Given the description of an element on the screen output the (x, y) to click on. 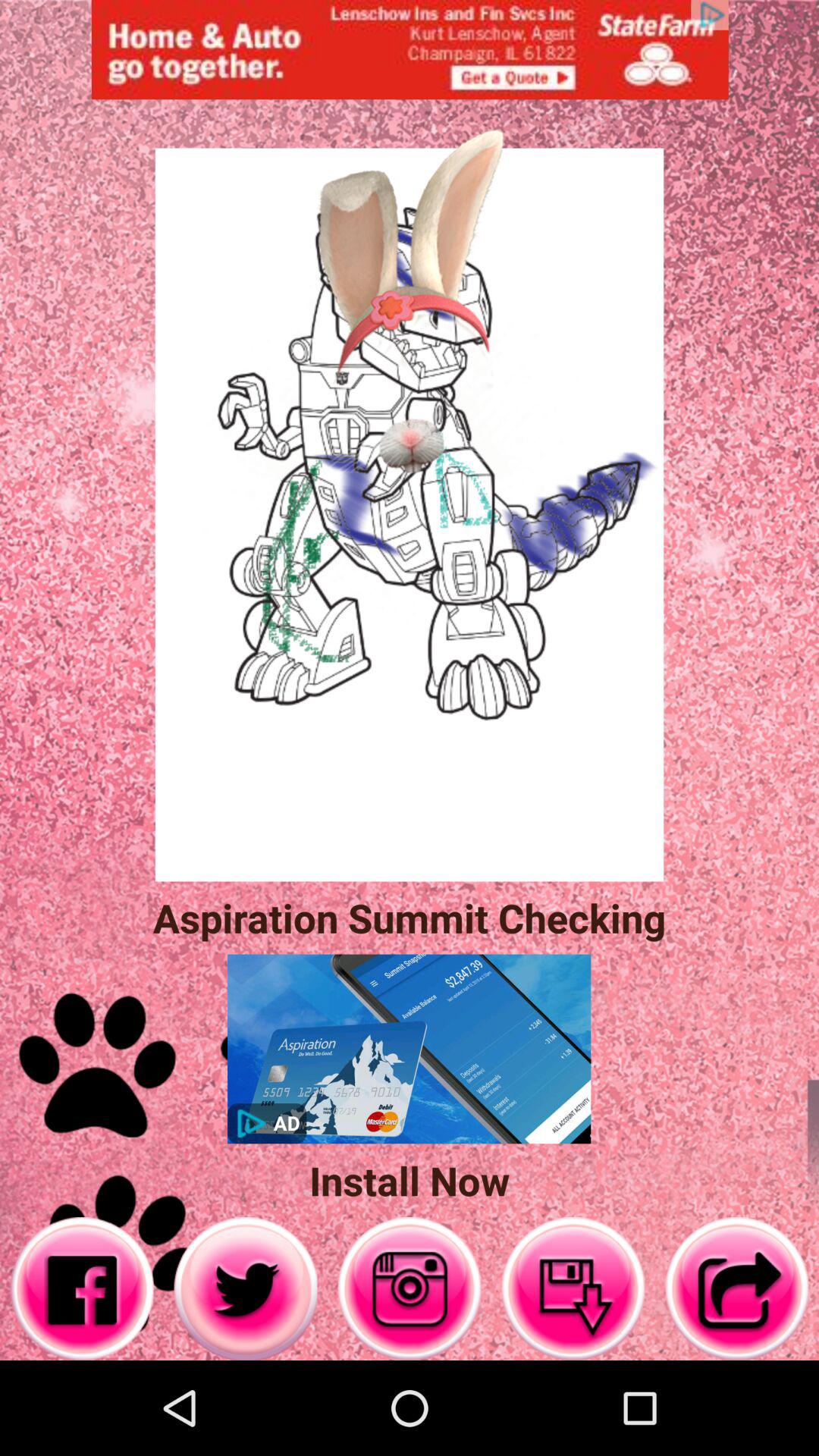
game option (409, 1288)
